Given the description of an element on the screen output the (x, y) to click on. 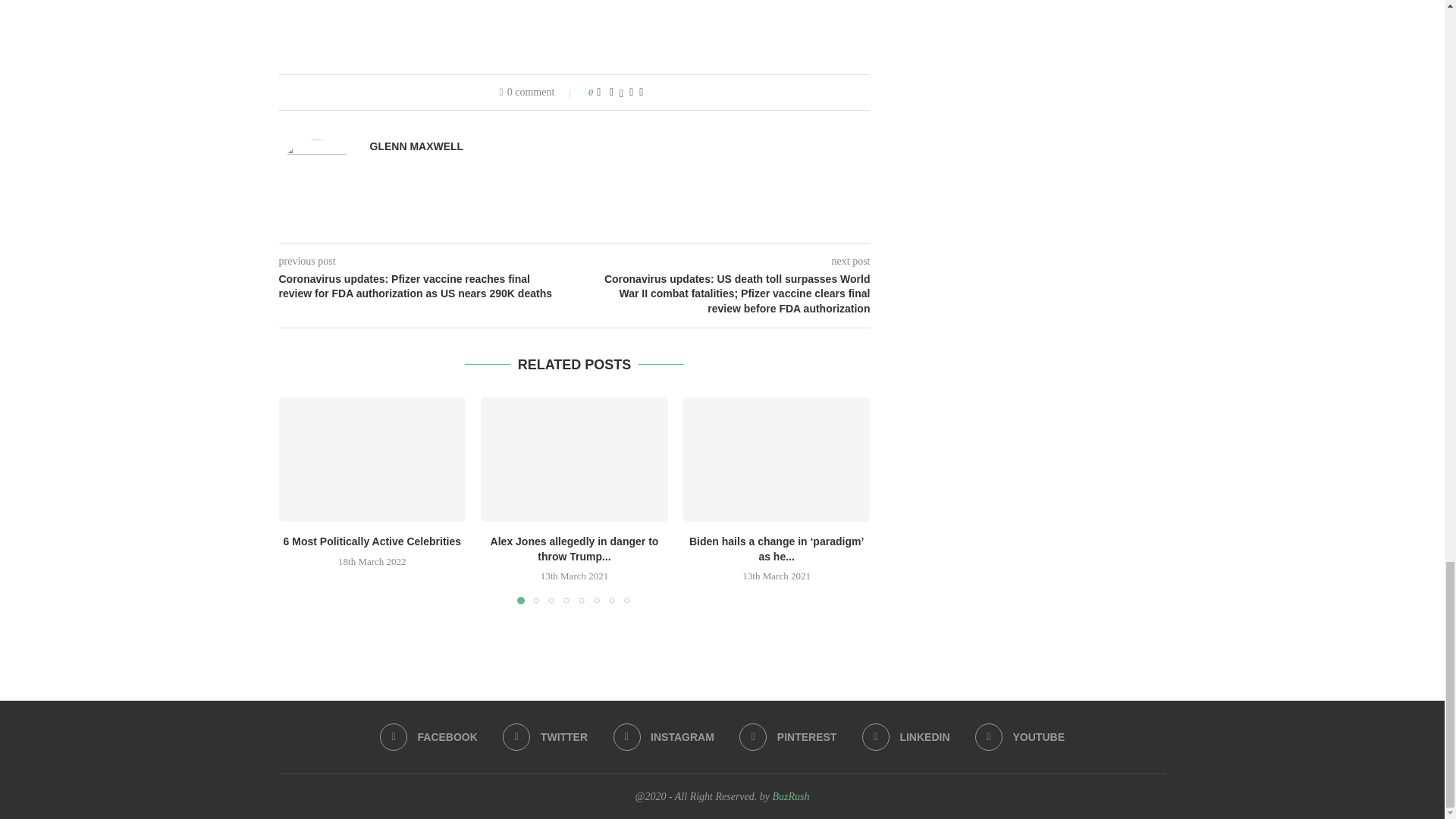
6 Most Politically Active Celebrities (372, 541)
Author Glenn Maxwell (416, 146)
GLENN MAXWELL (416, 146)
Alex Jones allegedly in danger to throw Trump... (574, 548)
